Given the description of an element on the screen output the (x, y) to click on. 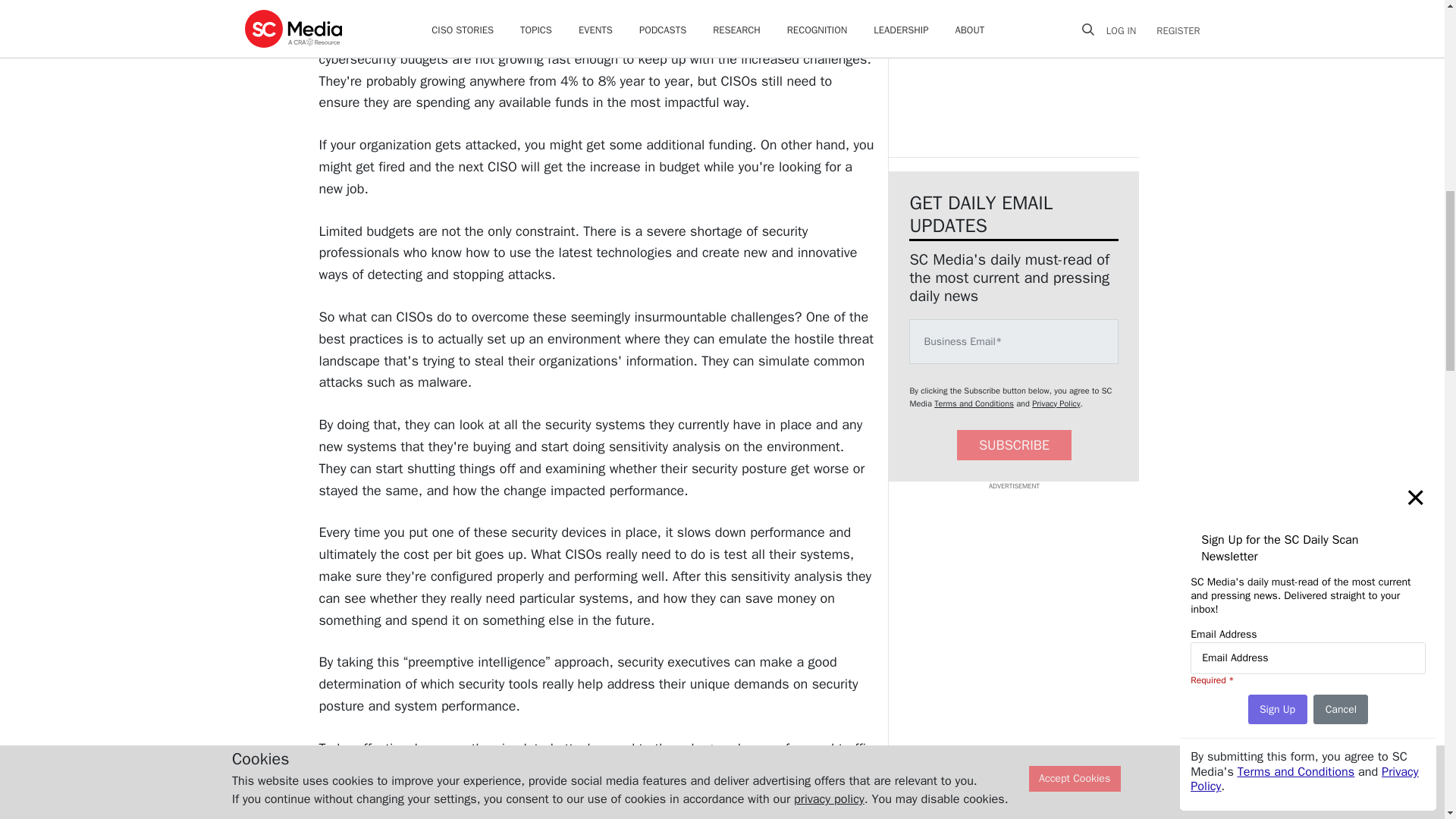
SUBSCRIBE (1013, 445)
Terms and Conditions (973, 403)
3rd party ad content (1012, 78)
Privacy Policy (1056, 403)
